Given the description of an element on the screen output the (x, y) to click on. 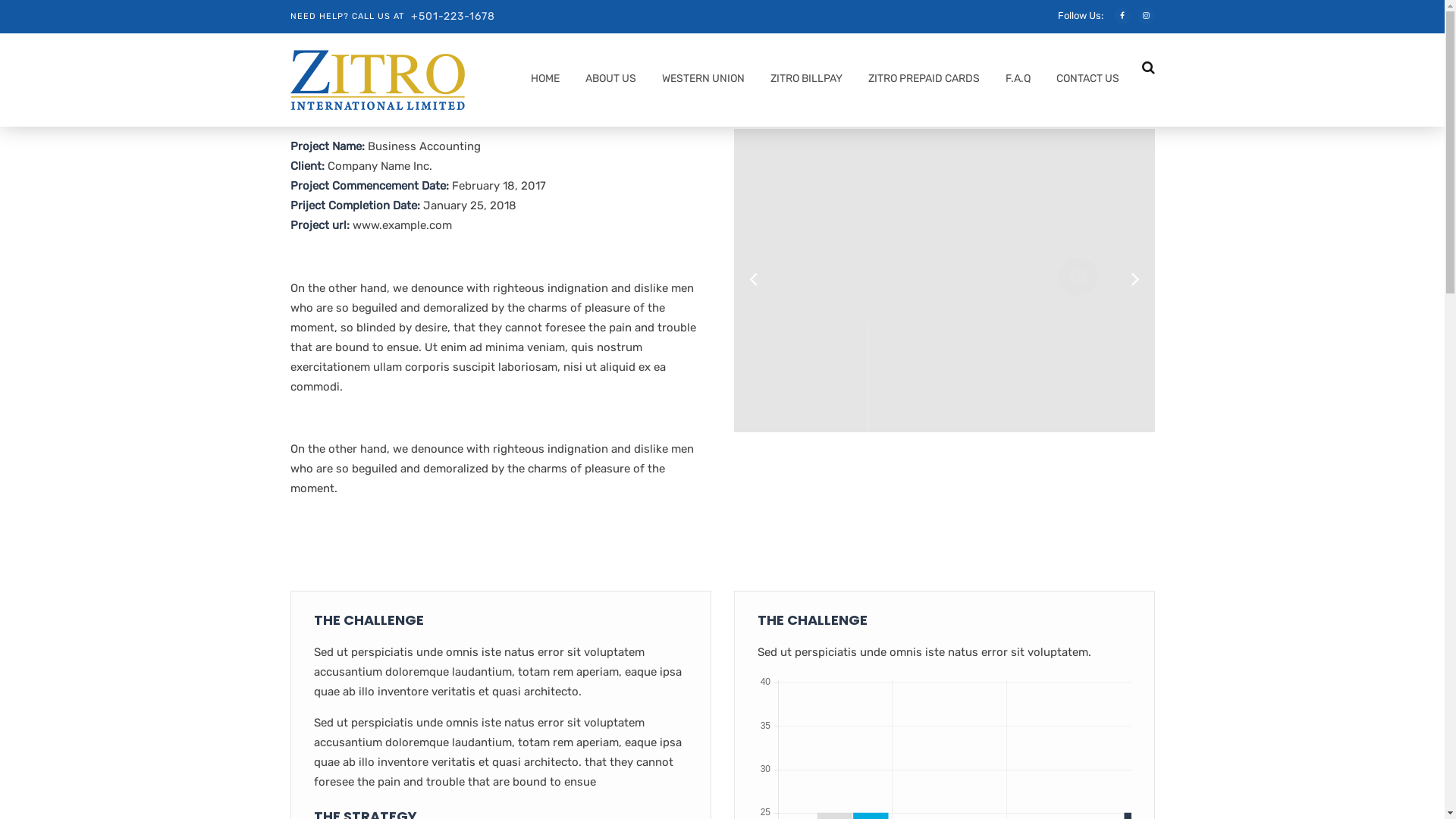
WESTERN UNION Element type: text (698, 82)
HOME Element type: text (539, 82)
ZITRO BILLPAY Element type: text (801, 82)
CONTACT US Element type: text (1083, 82)
+501-223-1678 Element type: text (453, 16)
F.A.Q Element type: text (1012, 82)
ABOUT US Element type: text (605, 82)
ZITRO PREPAID CARDS Element type: text (919, 82)
